Given the description of an element on the screen output the (x, y) to click on. 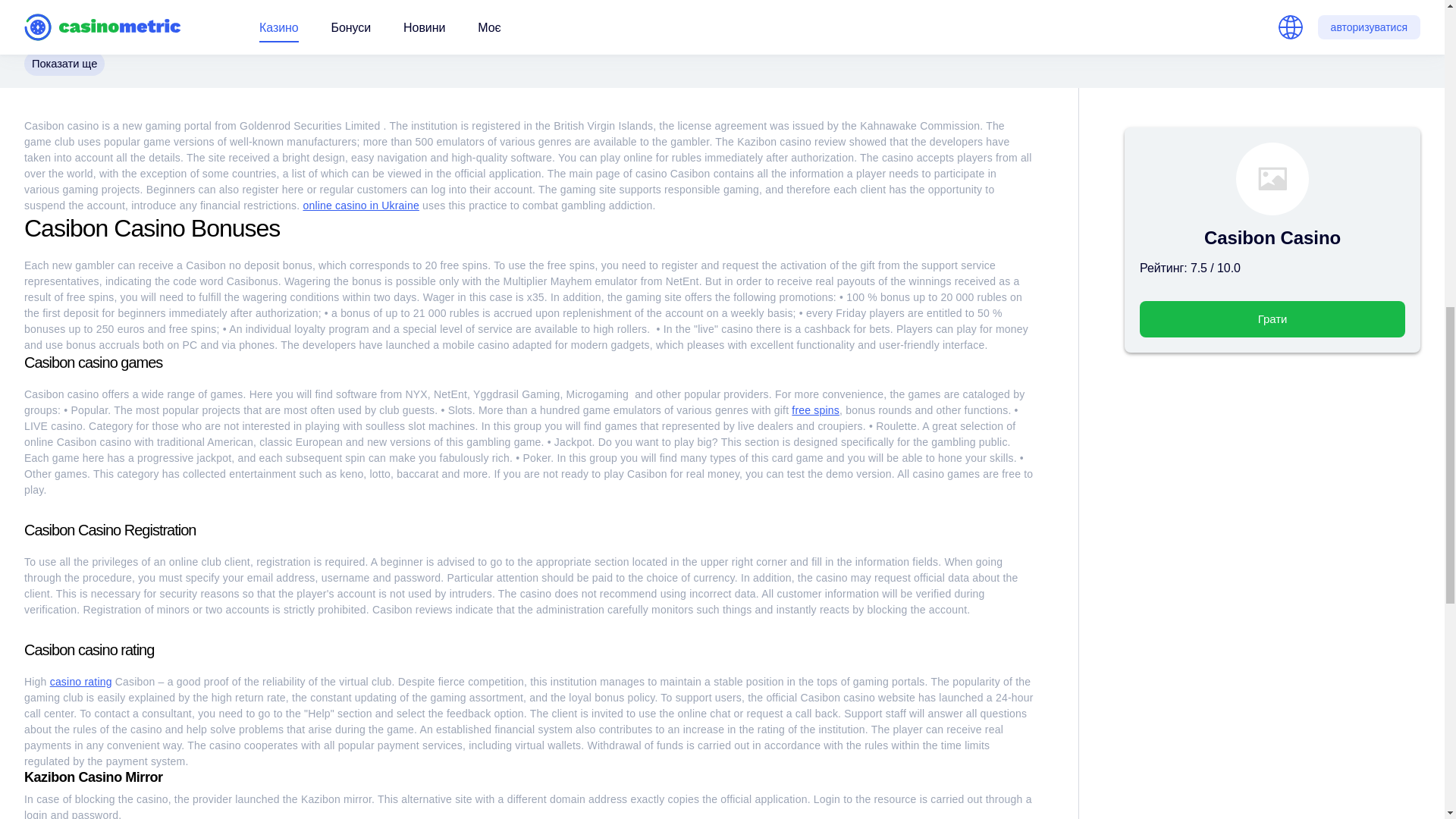
online casino in Ukraine (360, 205)
free spins (816, 410)
View all (403, 4)
casino rating (80, 681)
